Given the description of an element on the screen output the (x, y) to click on. 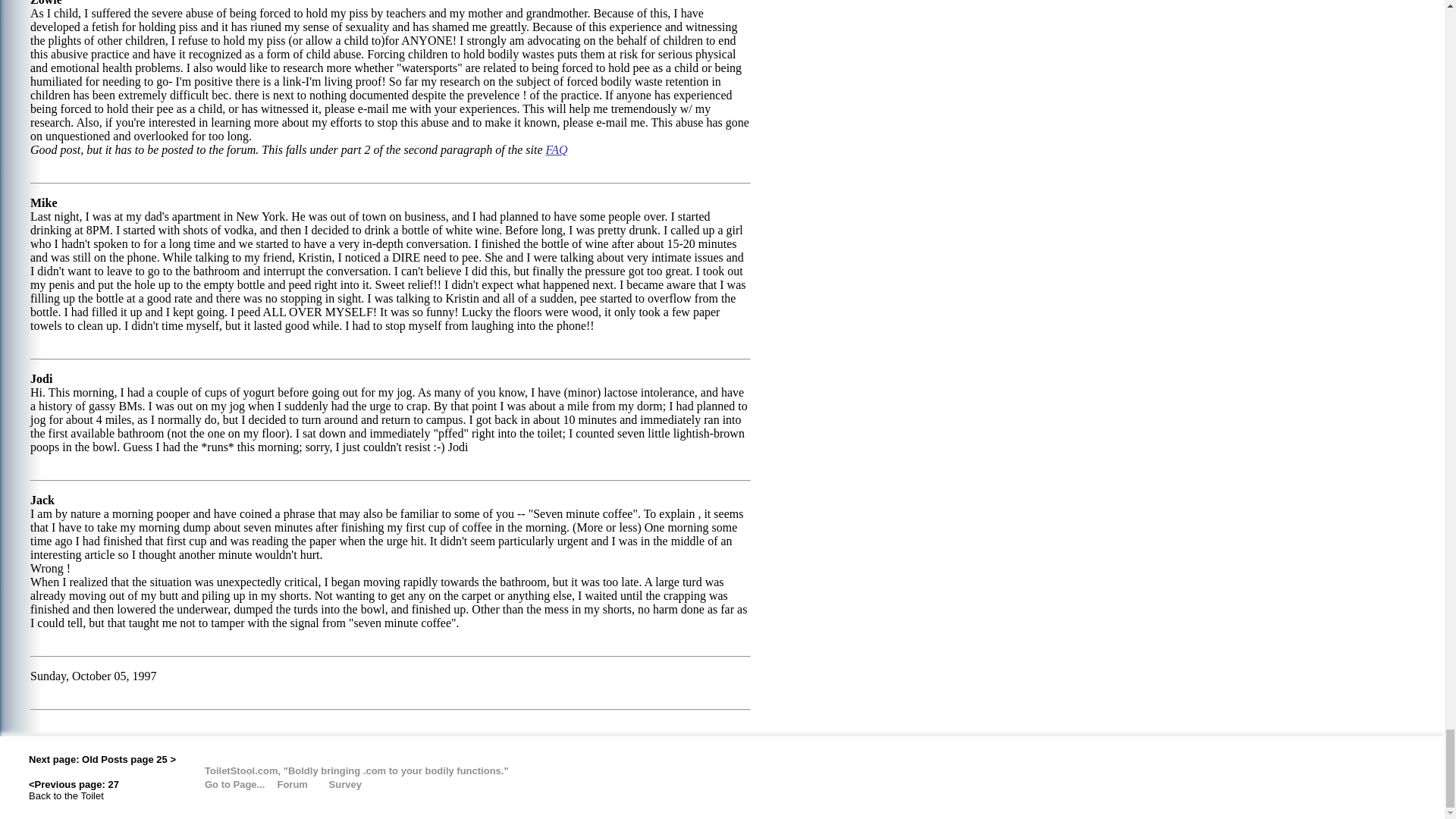
       Go to Page... (223, 783)
Survey (343, 783)
FAQ (556, 149)
Select a page by number (223, 783)
Back to the Toilet (66, 794)
Forum       (300, 783)
Take the Sitting on the Toilet Survey. (343, 783)
